Given the description of an element on the screen output the (x, y) to click on. 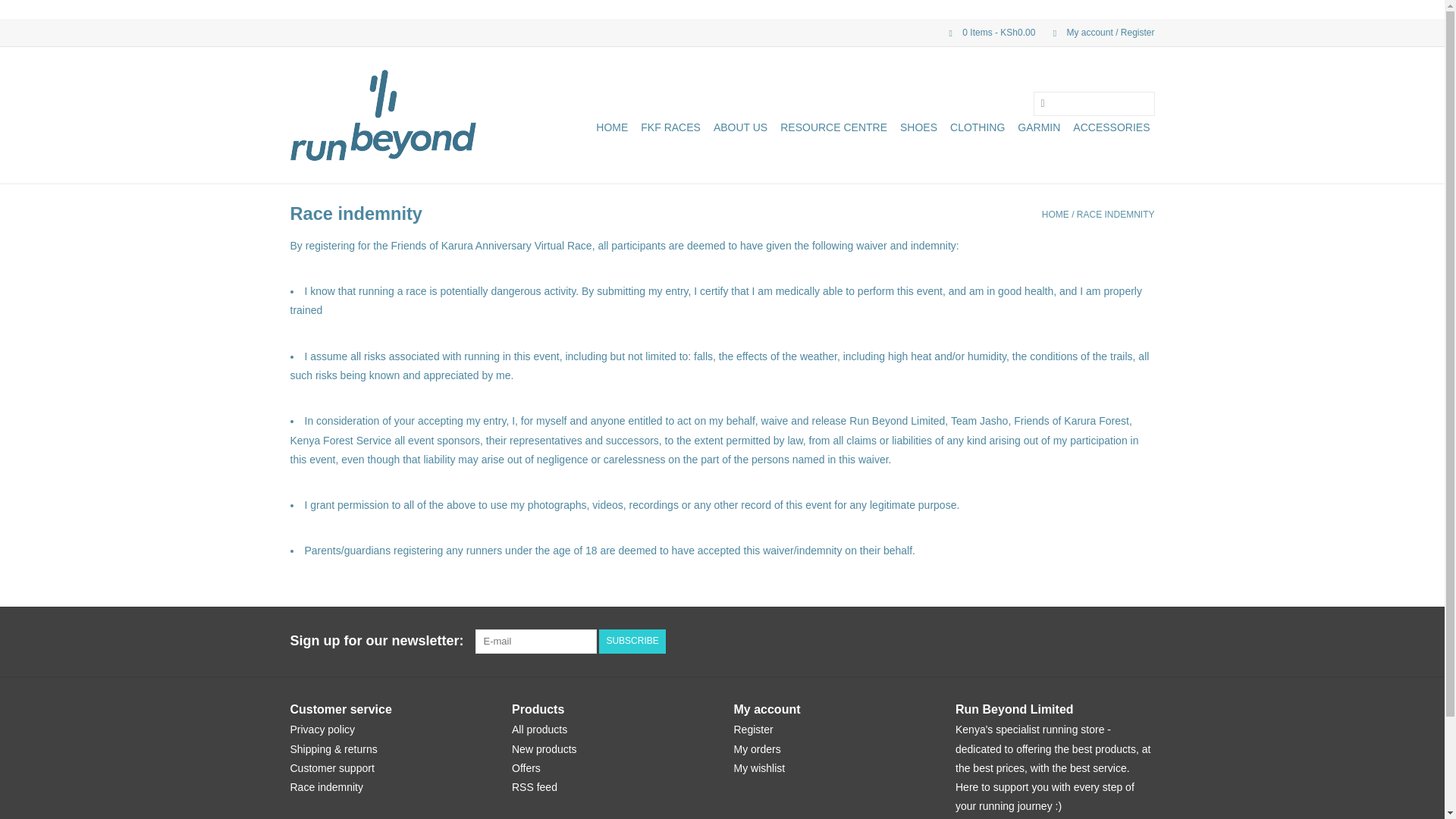
FKF Races (670, 127)
My account (1096, 32)
FKF RACES (670, 127)
CLOTHING (976, 127)
Run Beyond (382, 114)
HOME (611, 127)
Search (1041, 104)
0 Items - KSh0.00 (986, 32)
ABOUT US (740, 127)
SHOES (918, 127)
Resource Centre (833, 127)
Cart (986, 32)
About Us (740, 127)
RESOURCE CENTRE (833, 127)
